Given the description of an element on the screen output the (x, y) to click on. 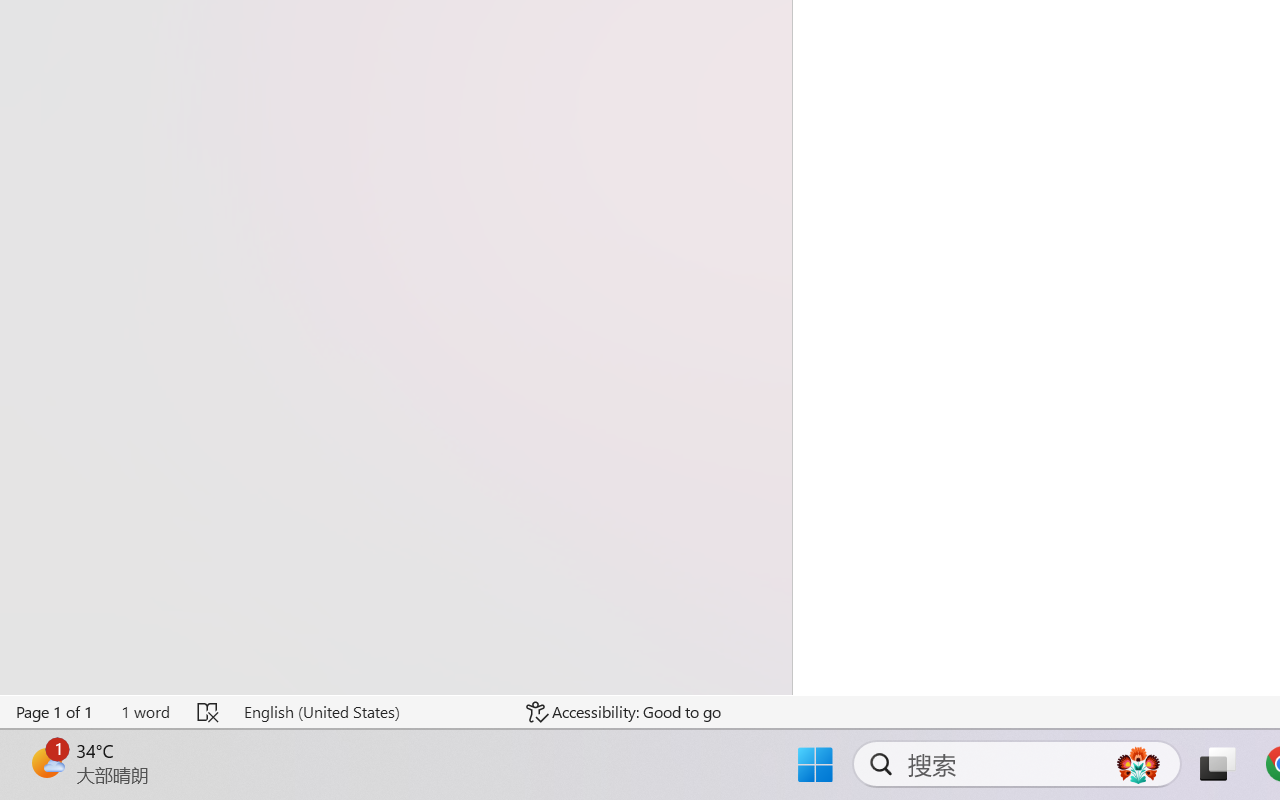
Spelling and Grammar Check Errors (208, 712)
